Given the description of an element on the screen output the (x, y) to click on. 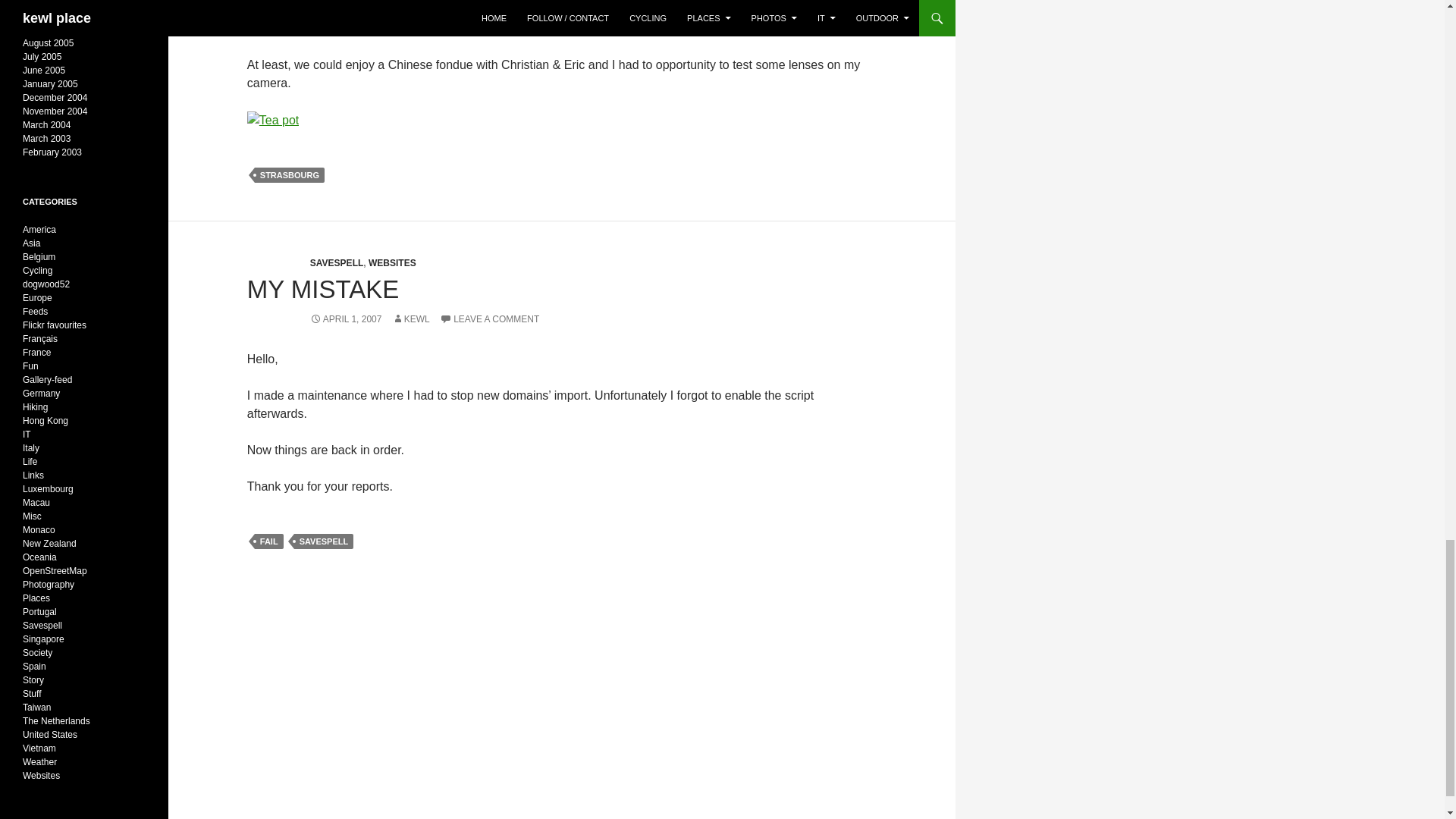
Tea pot taken with a macro lens (272, 120)
